Given the description of an element on the screen output the (x, y) to click on. 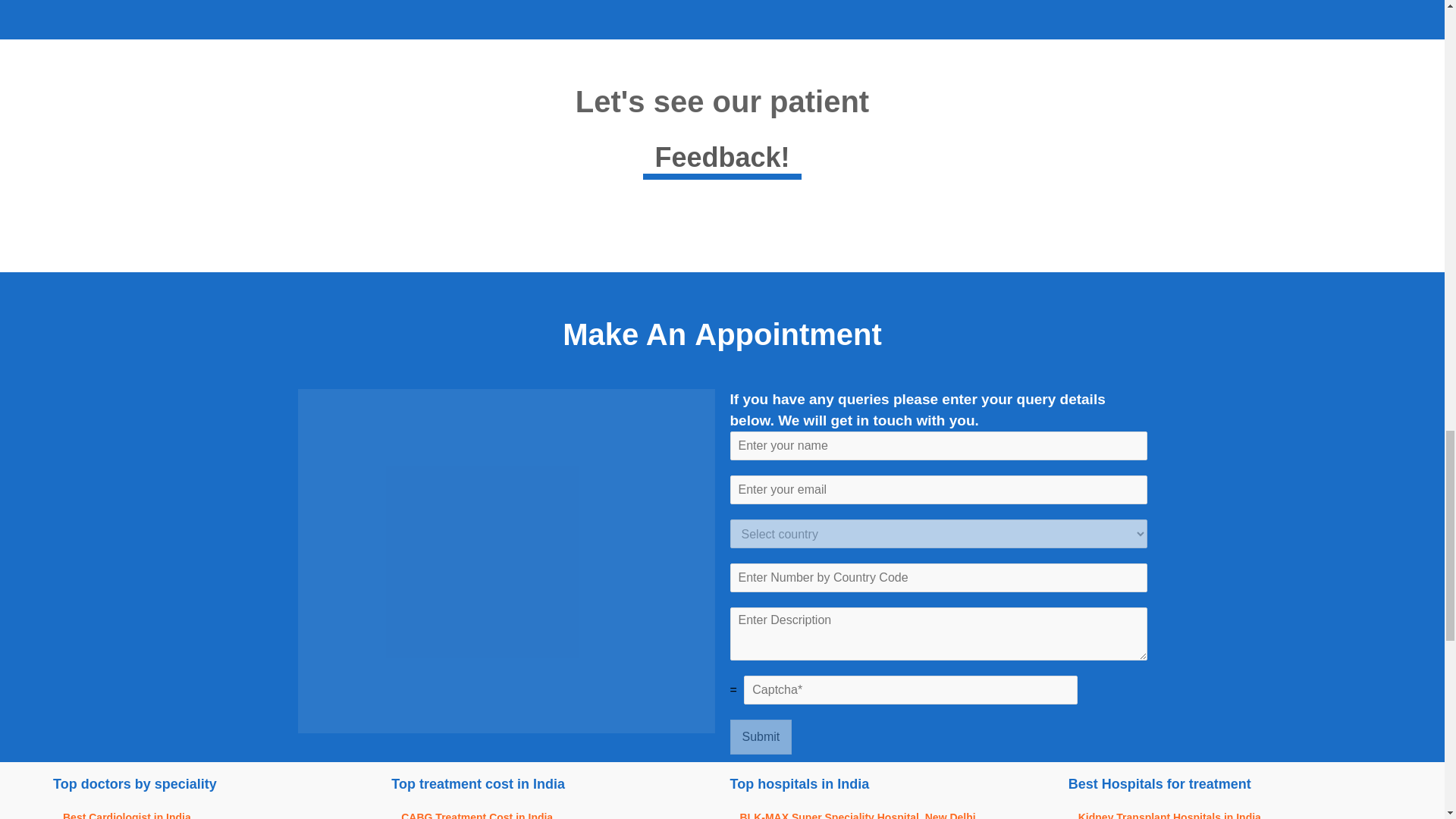
Top doctors by speciality (213, 784)
Top treatment cost in India (552, 784)
Best Hospitals for treatment (1229, 784)
Make An Appointment (722, 341)
Top hospitals in India (722, 133)
